Given the description of an element on the screen output the (x, y) to click on. 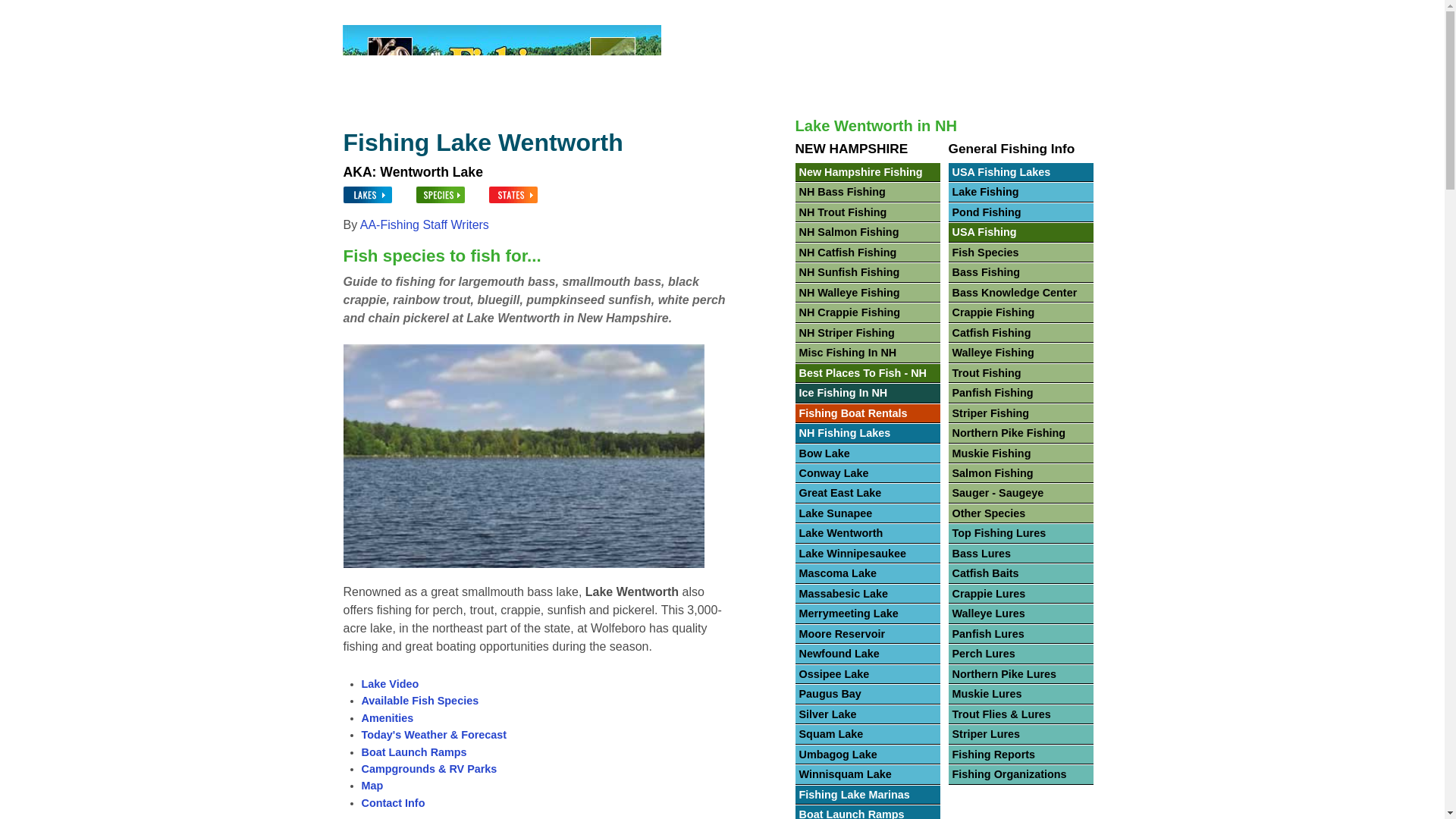
Fishing Lakes (429, 12)
Videos (1031, 12)
Others (980, 12)
All About Fishing (390, 12)
Amenities (387, 717)
Sunfish Fishing (816, 12)
Bass Fishing (561, 12)
Fishing Fo Other Species (980, 12)
Bass (561, 12)
Panfish (816, 12)
